Given the description of an element on the screen output the (x, y) to click on. 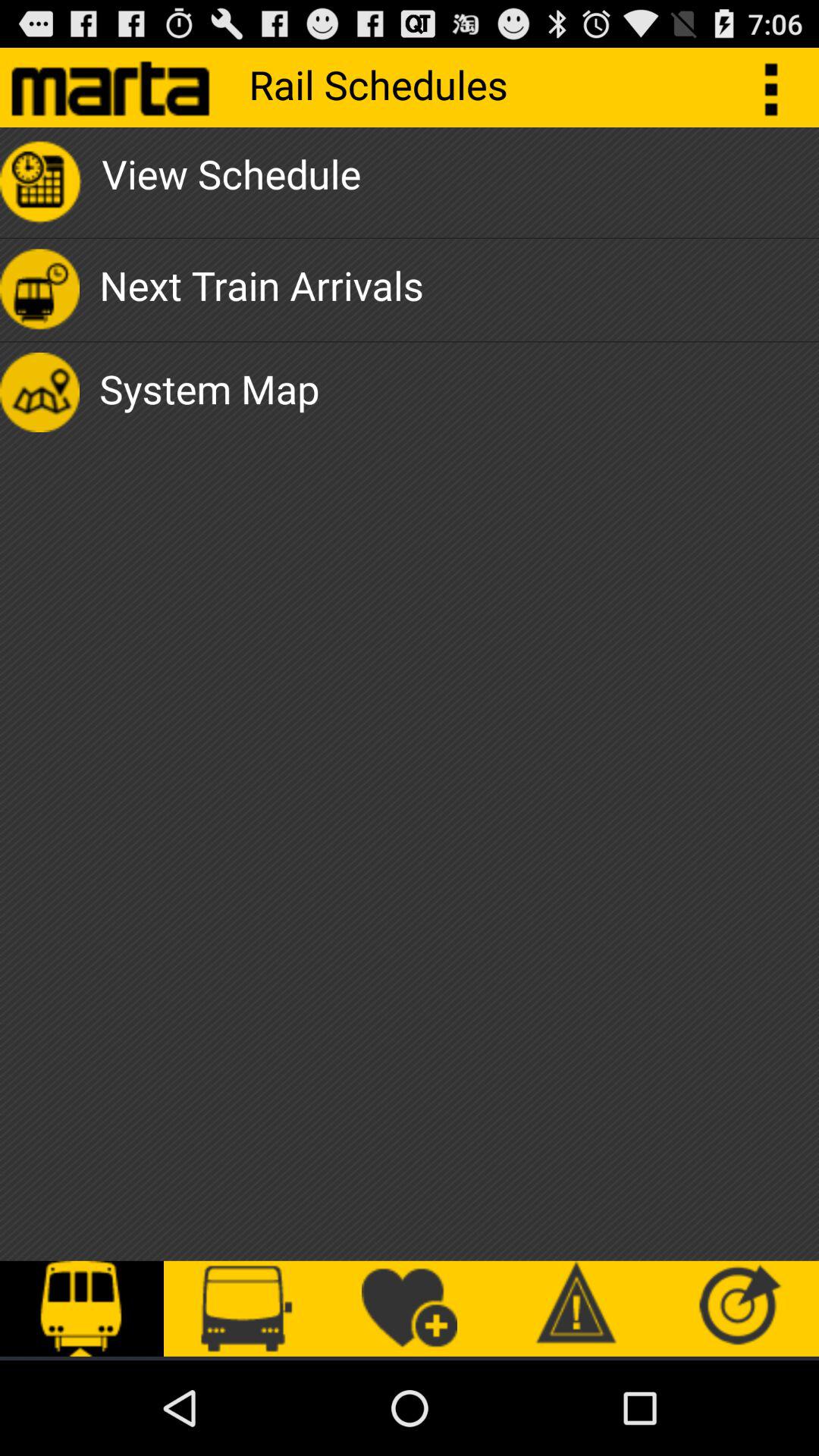
select the icon below the view schedule (261, 289)
